Given the description of an element on the screen output the (x, y) to click on. 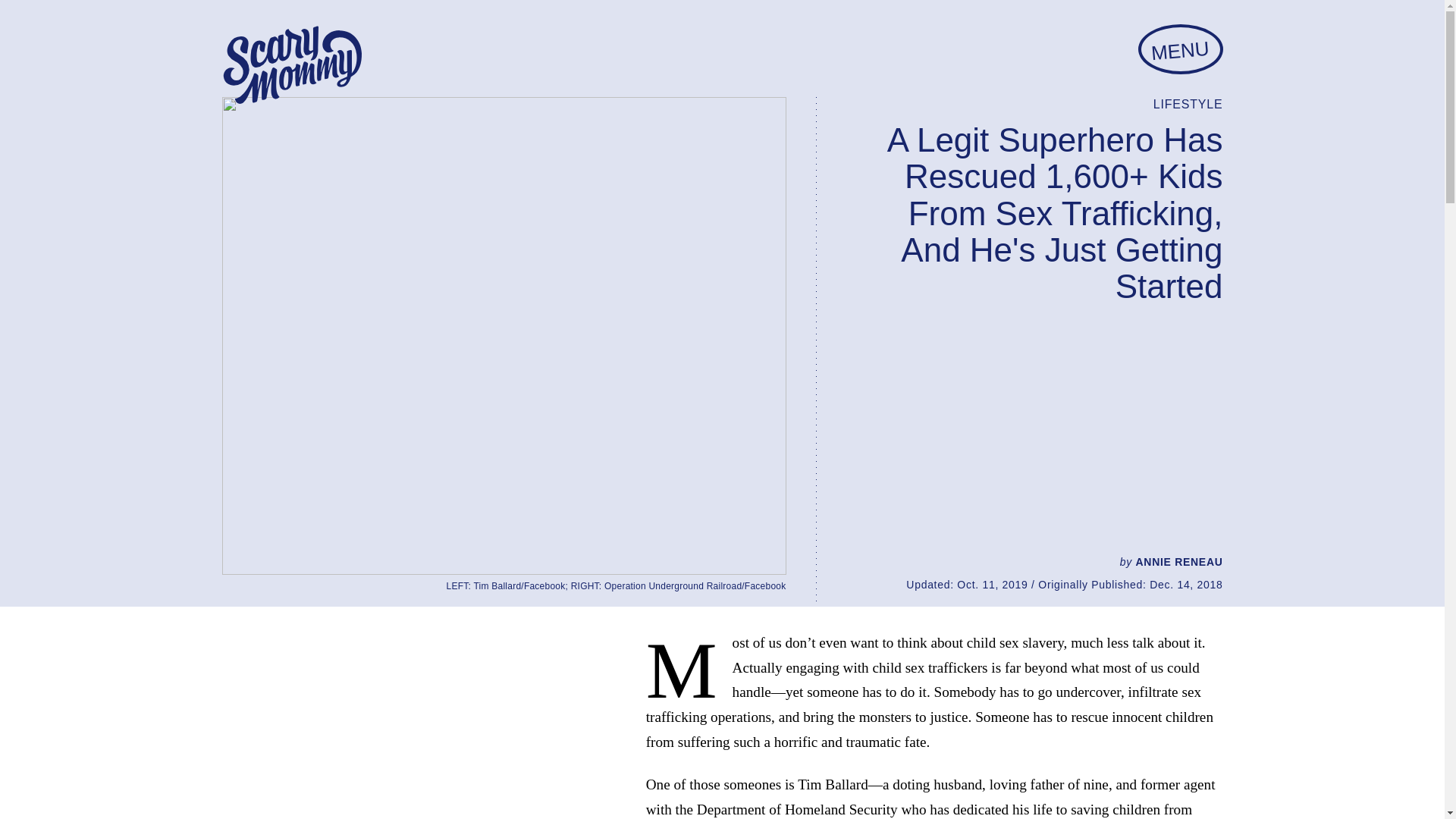
Scary Mommy (291, 64)
